Given the description of an element on the screen output the (x, y) to click on. 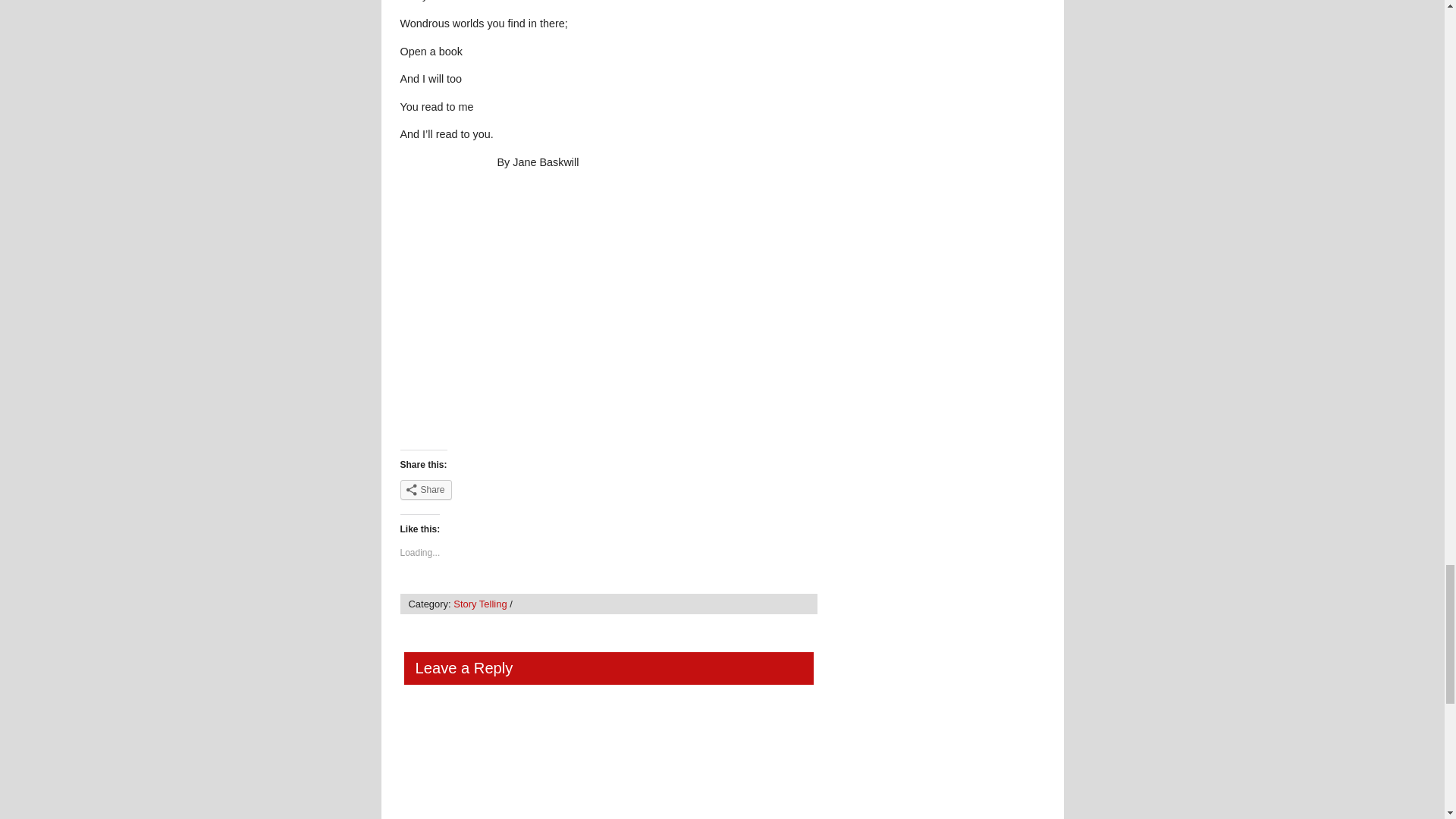
Story Telling (479, 603)
Share (425, 489)
Comment Form (604, 759)
